Given the description of an element on the screen output the (x, y) to click on. 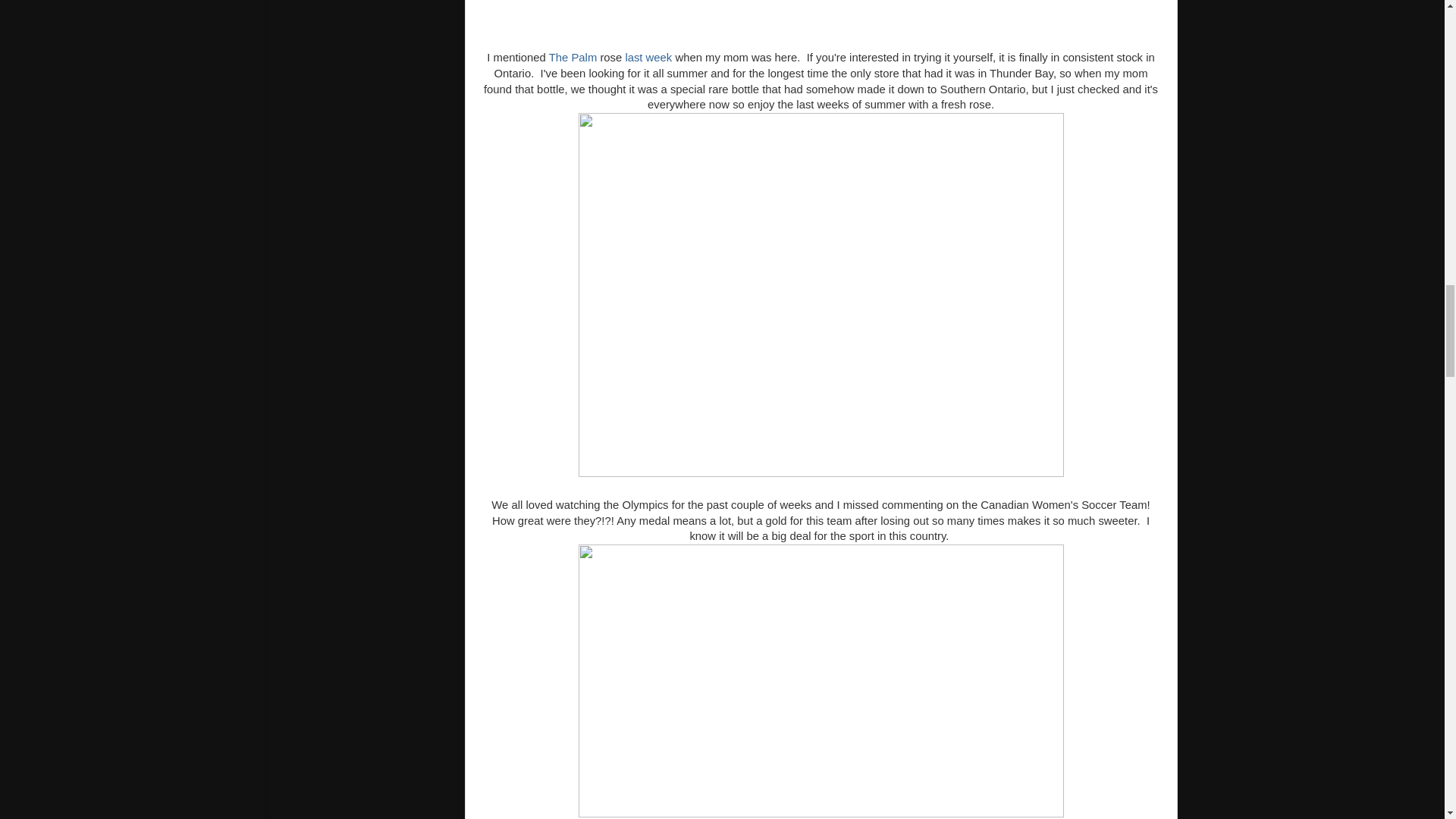
The Palm (572, 57)
last week (647, 57)
